Given the description of an element on the screen output the (x, y) to click on. 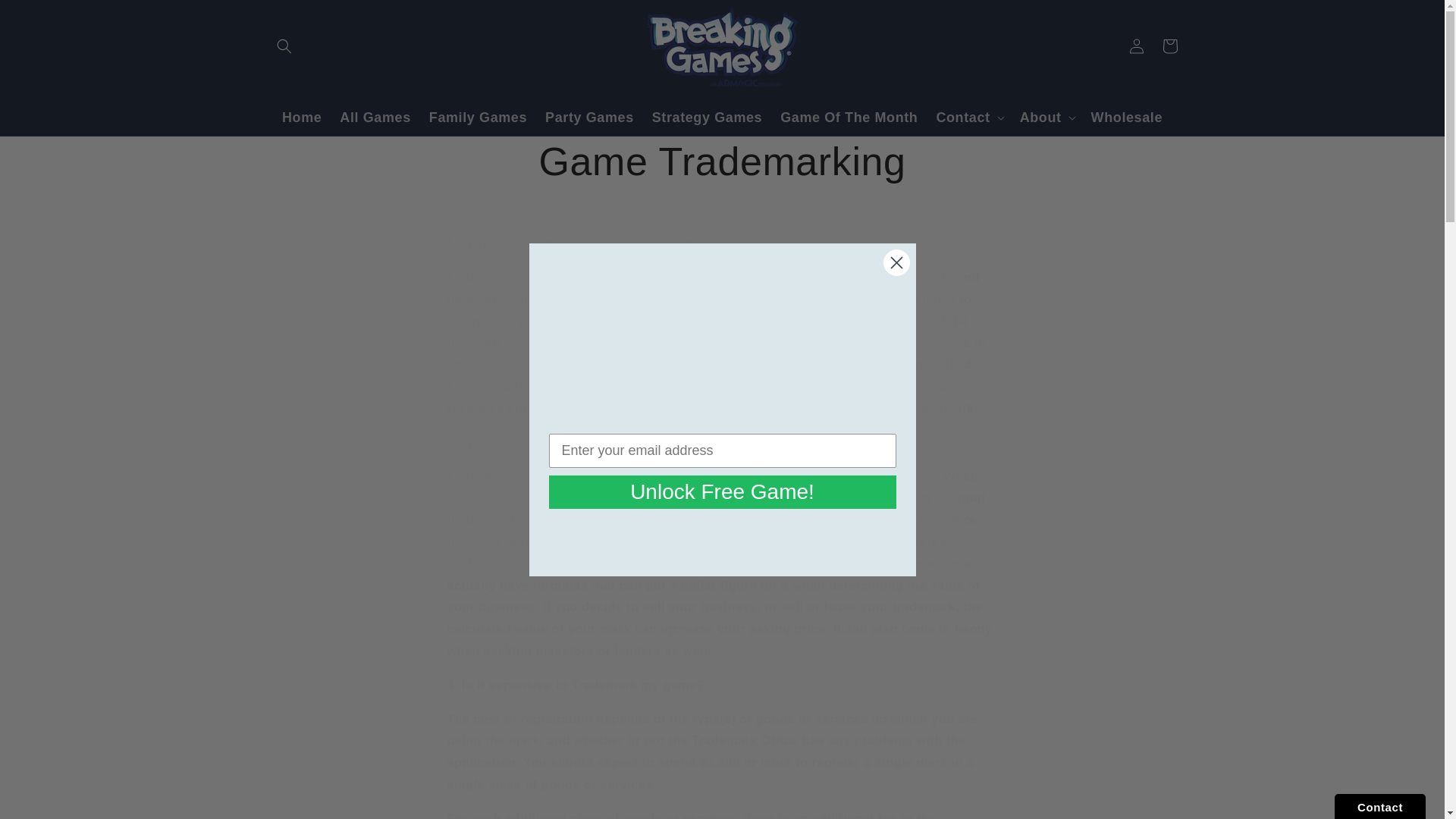
Strategy Games (707, 117)
Family Games (477, 117)
Home (301, 117)
Game Of The Month (848, 117)
Wholesale (1126, 117)
Game Trademarking (721, 162)
All Games (374, 117)
Skip to content (45, 17)
Party Games (589, 117)
Close dialog (895, 261)
